Given the description of an element on the screen output the (x, y) to click on. 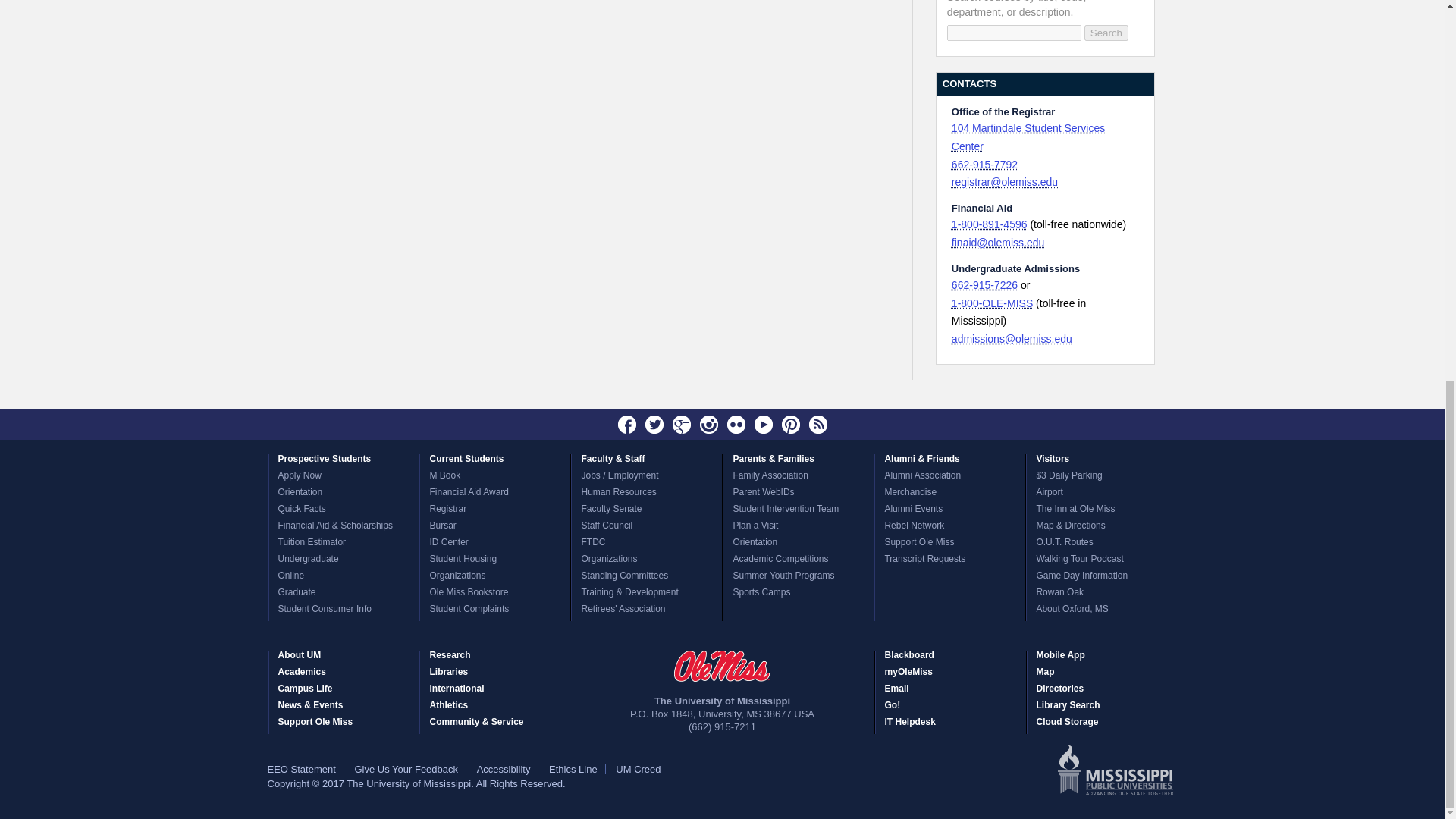
News Feed (818, 424)
Flickr (735, 424)
Search (1106, 32)
Facebook (627, 424)
Youtube (763, 424)
Twitter (654, 424)
Pinterest (790, 424)
Instagram (708, 424)
